Given the description of an element on the screen output the (x, y) to click on. 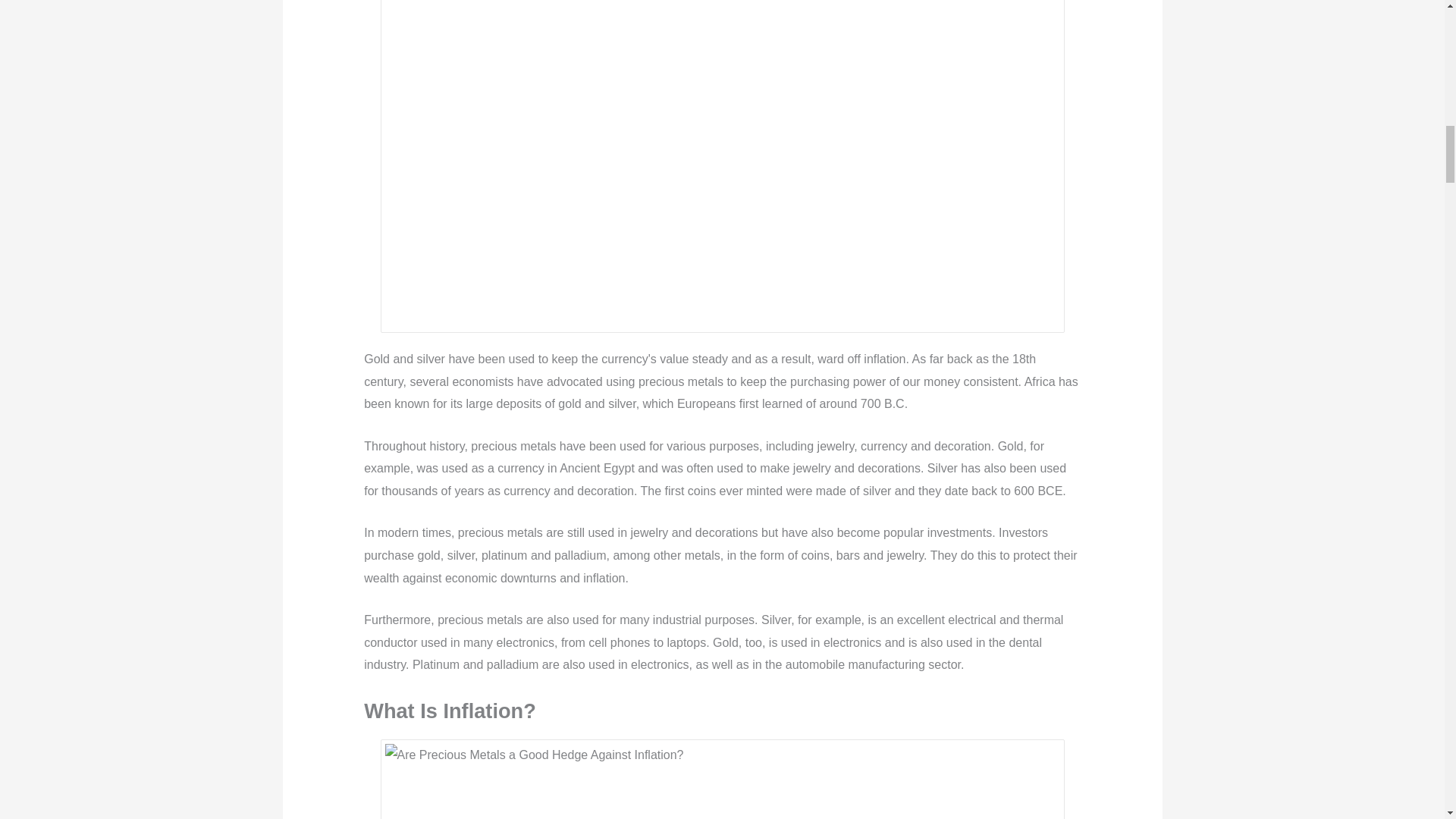
Are Precious Metals a Good Hedge Against Inflation? (722, 781)
